Given the description of an element on the screen output the (x, y) to click on. 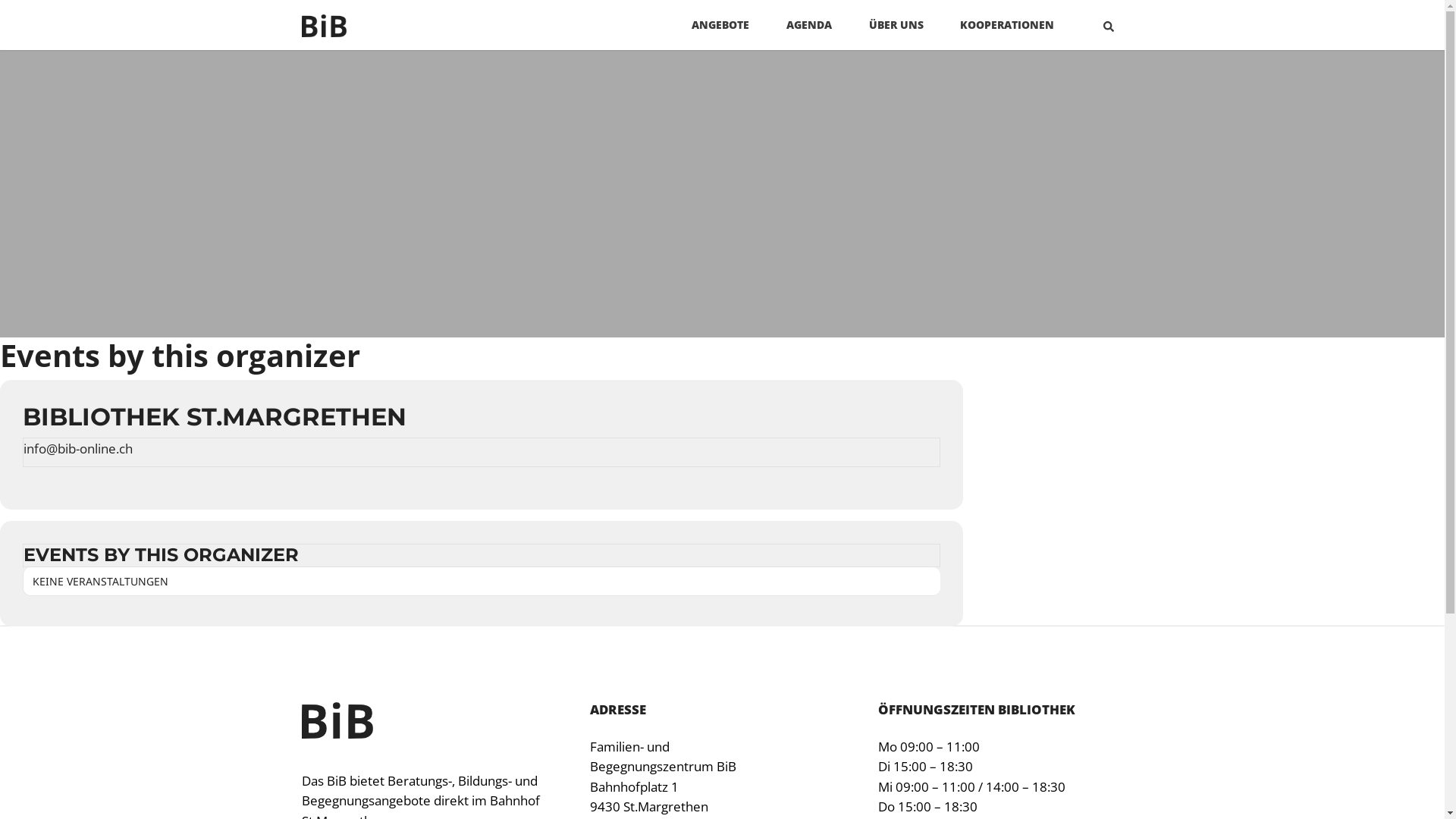
AGENDA Element type: text (808, 24)
ANGEBOTE Element type: text (720, 24)
KOOPERATIONEN Element type: text (1007, 24)
